Given the description of an element on the screen output the (x, y) to click on. 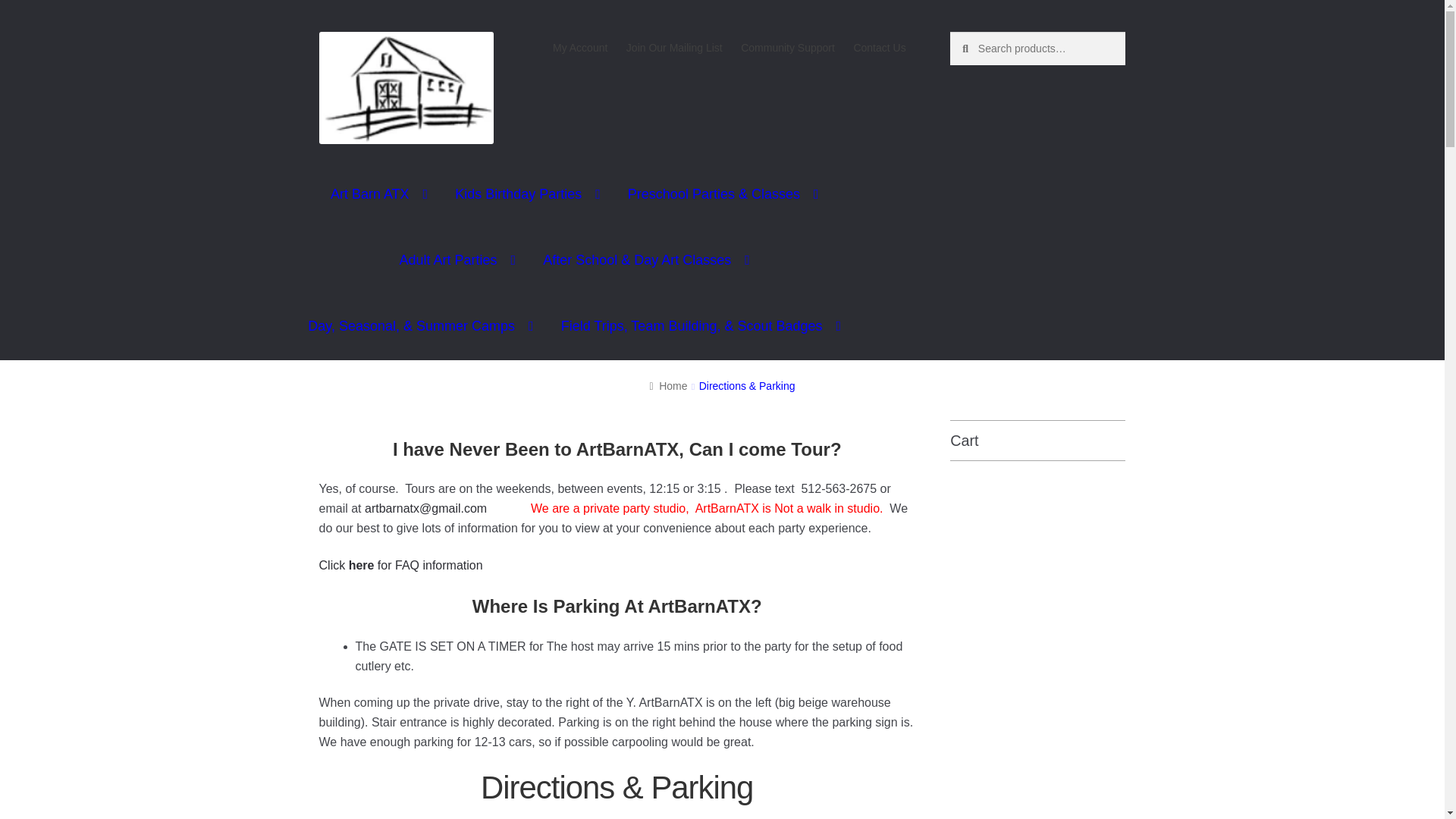
Join Our Mailing List (674, 47)
My Account (580, 47)
Kids Birthday Parties (527, 193)
Contact Us (879, 47)
Community Support (788, 47)
Art Barn ATX (379, 193)
